Given the description of an element on the screen output the (x, y) to click on. 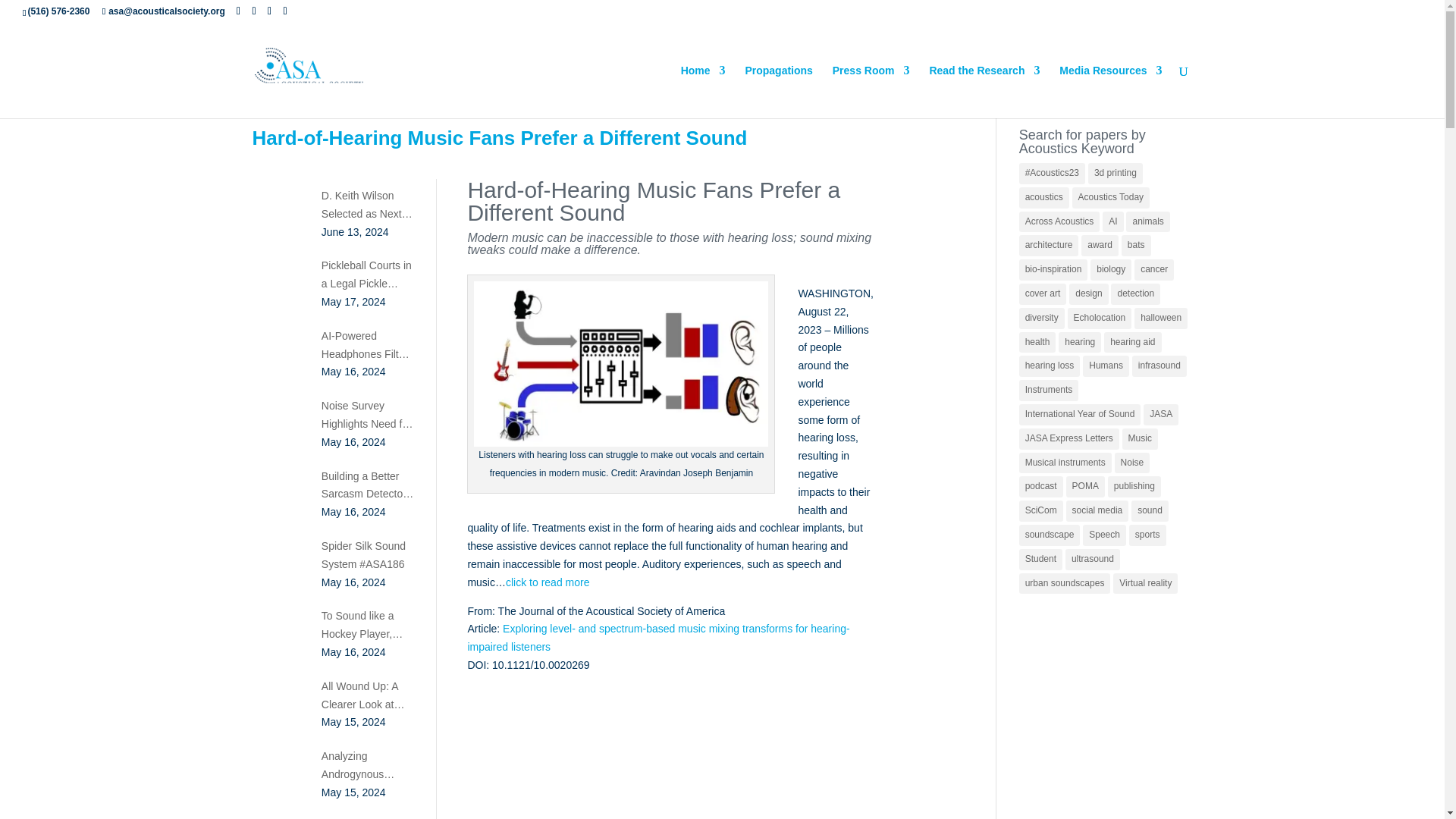
Read the Research (983, 91)
Propagations (778, 91)
Press Room (871, 91)
Media Resources (1110, 91)
D. Keith Wilson Selected as Next Acoustics Today Editor (367, 205)
Hard-of-Hearing Music Fans Prefer a Different Sound (498, 137)
